Given the description of an element on the screen output the (x, y) to click on. 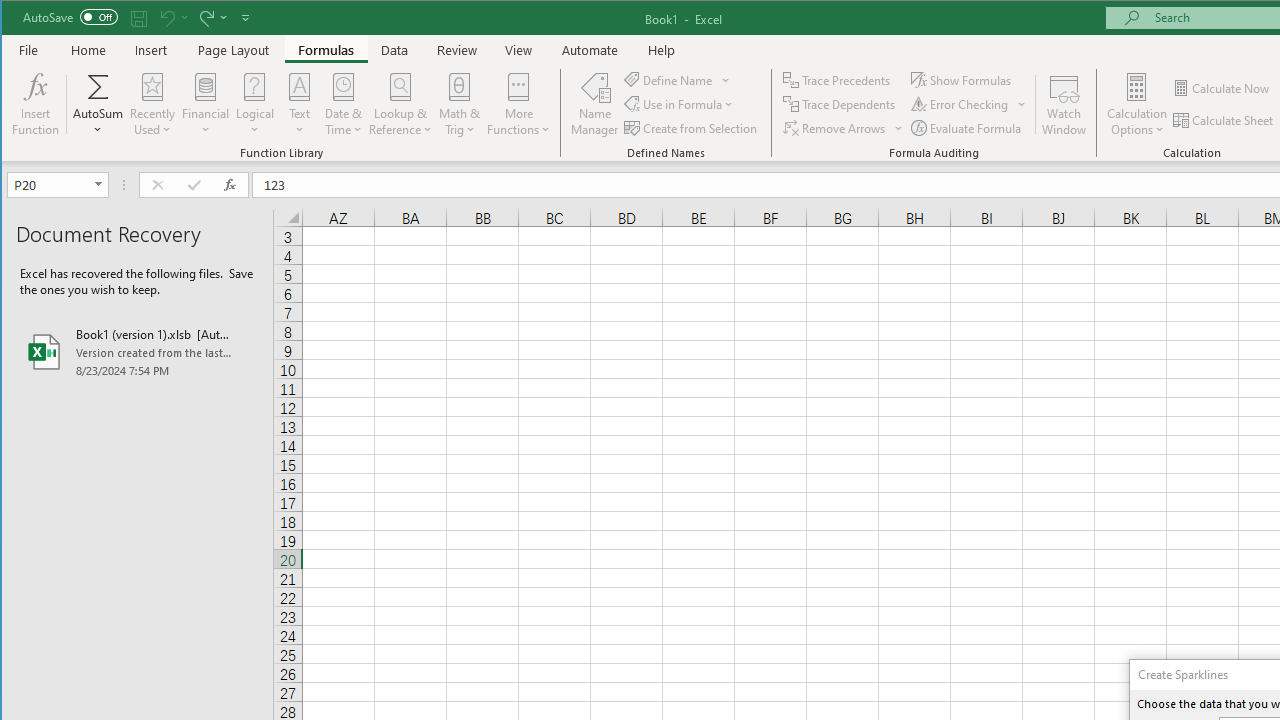
Math & Trig (459, 104)
Calculation Options (1136, 104)
Remove Arrows (843, 127)
Insert Function... (35, 104)
Use in Formula (679, 103)
Book1 (version 1).xlsb  [AutoRecovered] (137, 352)
